Given the description of an element on the screen output the (x, y) to click on. 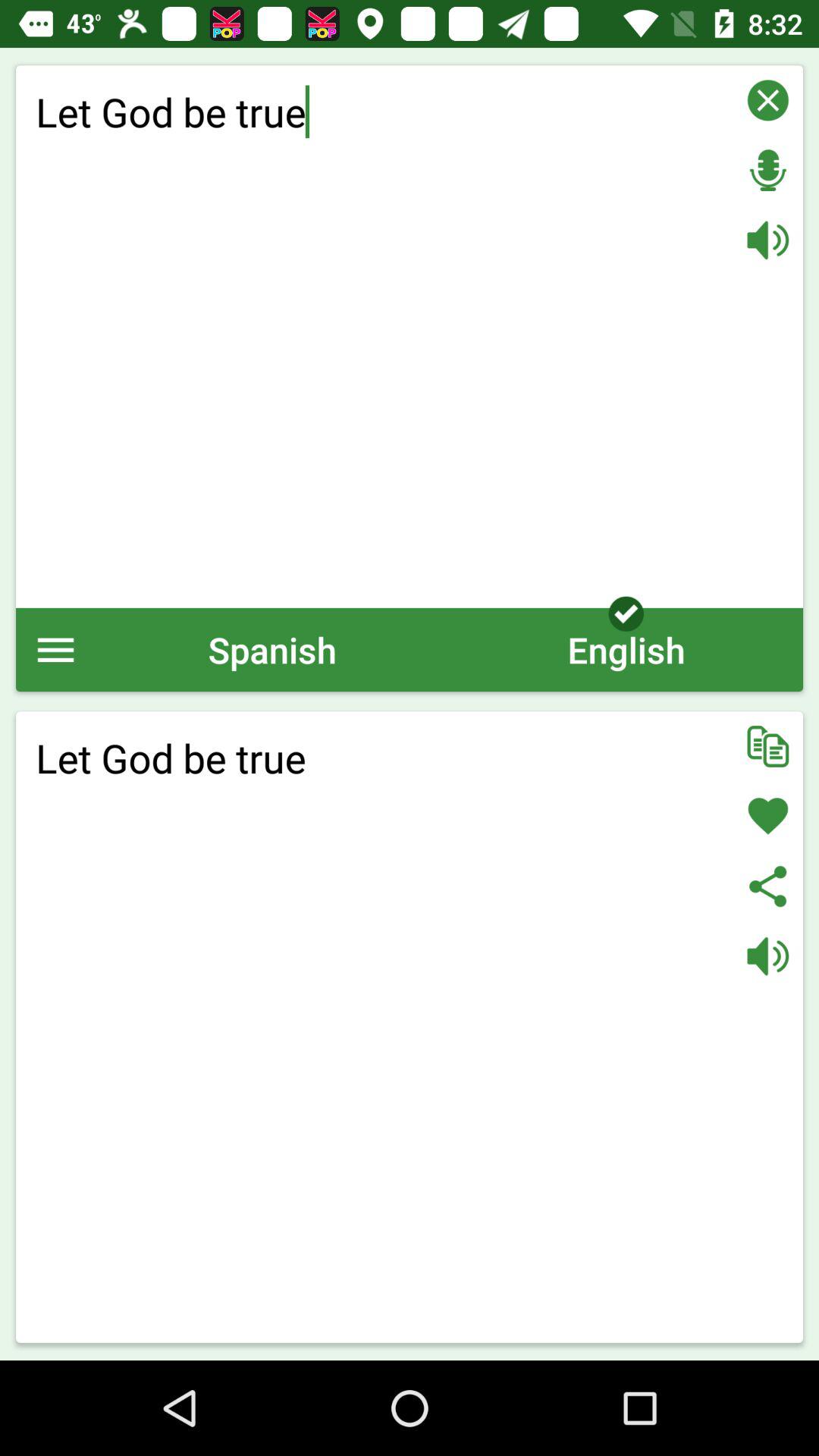
choose english icon (626, 649)
